Given the description of an element on the screen output the (x, y) to click on. 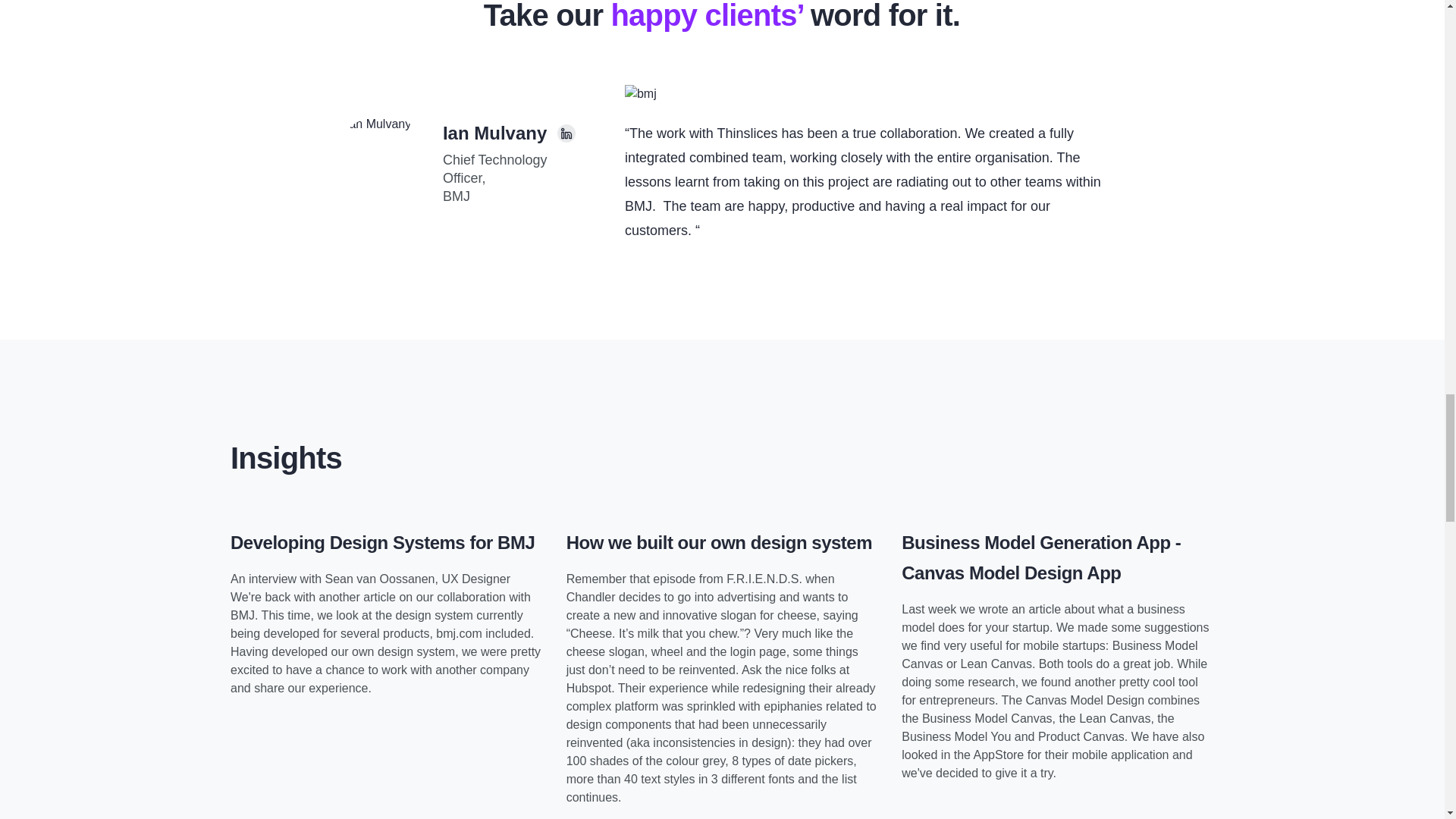
Visit Linkedin Profile (566, 133)
